Given the description of an element on the screen output the (x, y) to click on. 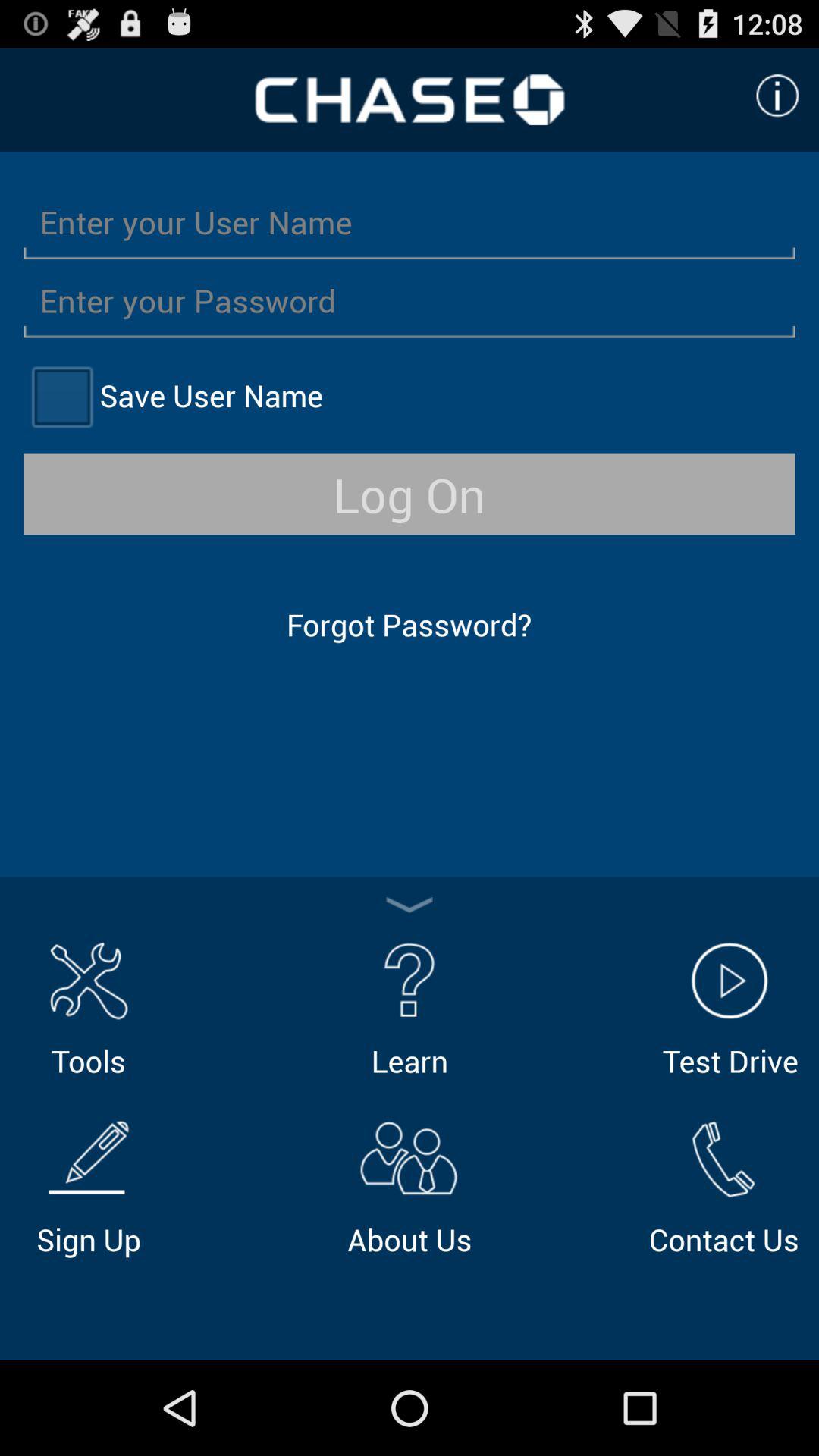
type in password (409, 299)
